Given the description of an element on the screen output the (x, y) to click on. 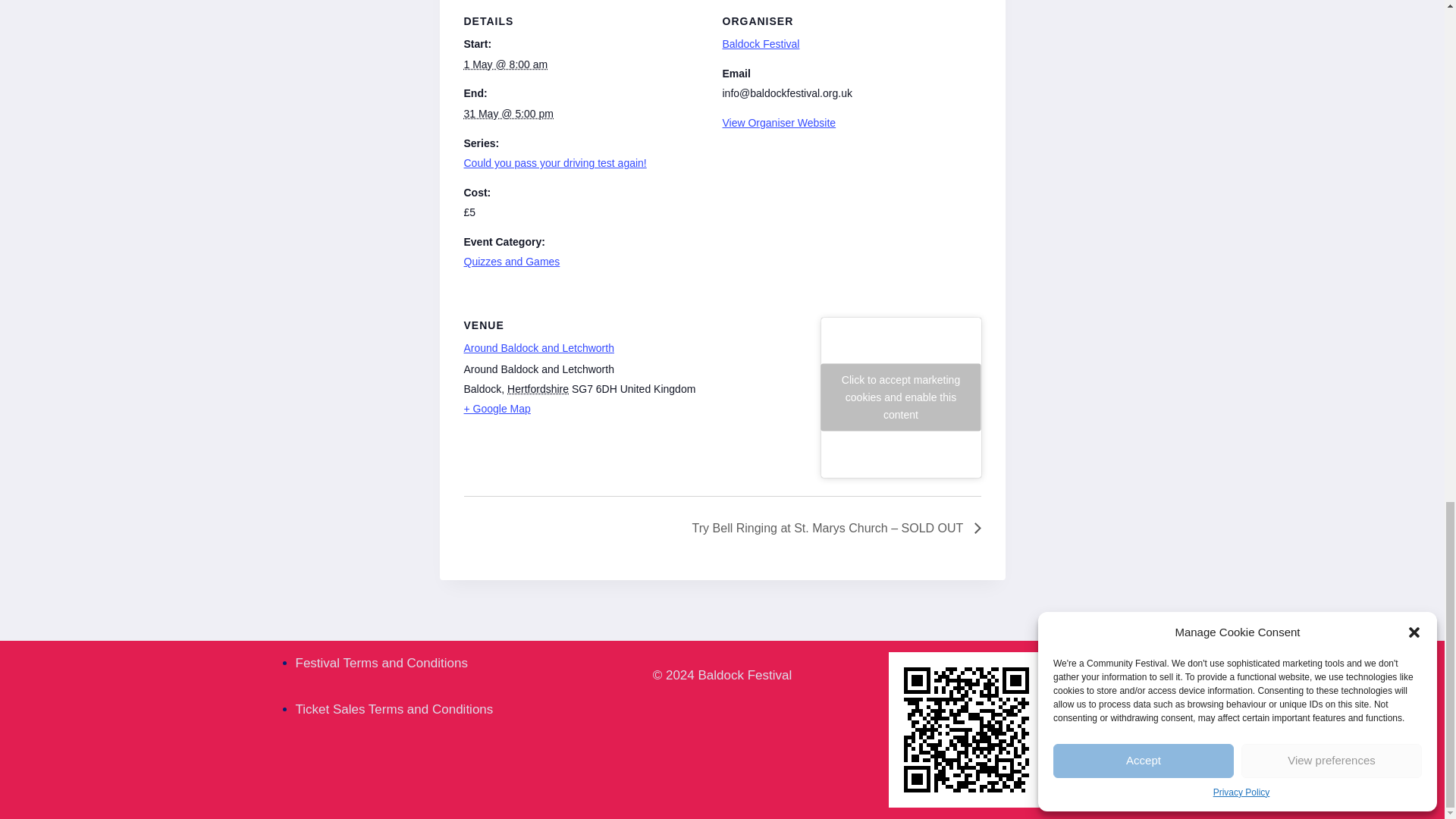
Could you pass your driving test again! (555, 162)
Click to view a Google Map (633, 408)
2024-05-01 (506, 64)
2024-05-31 (509, 113)
Baldock Festival (760, 43)
